Given the description of an element on the screen output the (x, y) to click on. 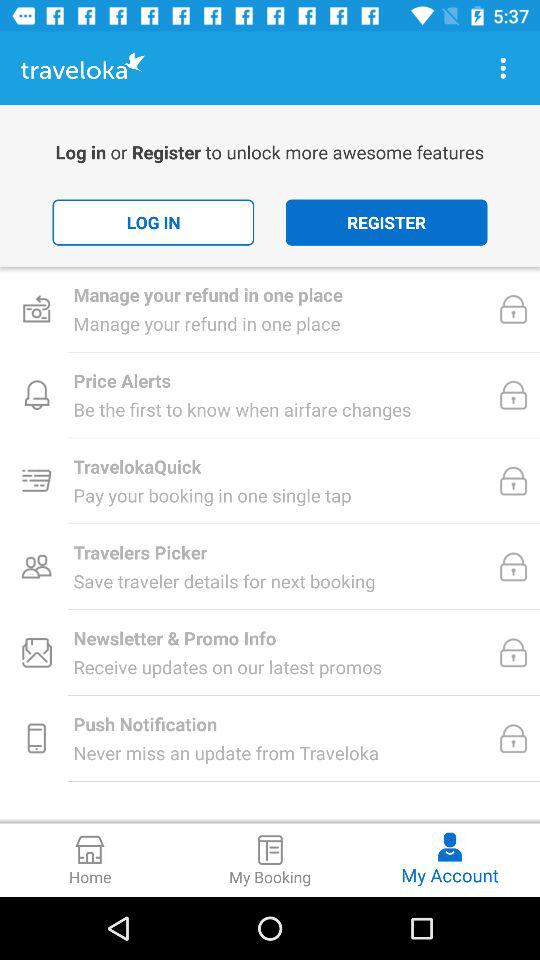
go to options (503, 68)
